Given the description of an element on the screen output the (x, y) to click on. 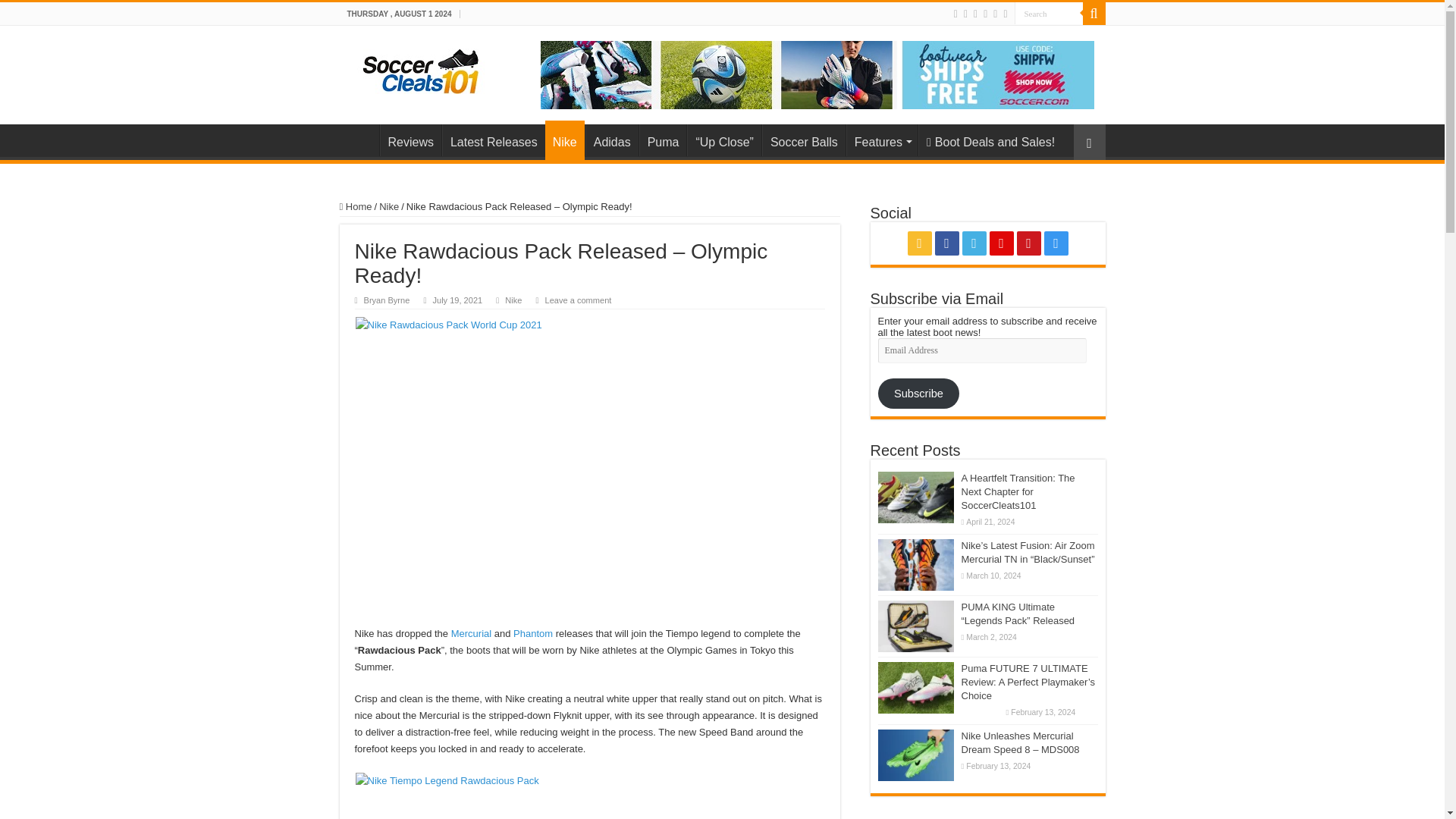
Search (1048, 13)
Soccer Balls (803, 140)
Home (358, 140)
Search (1048, 13)
Puma (663, 140)
Latest Releases (493, 140)
Search (1094, 13)
Nike (564, 139)
Search (1048, 13)
Reviews (409, 140)
Adidas (612, 140)
Features (881, 140)
